Given the description of an element on the screen output the (x, y) to click on. 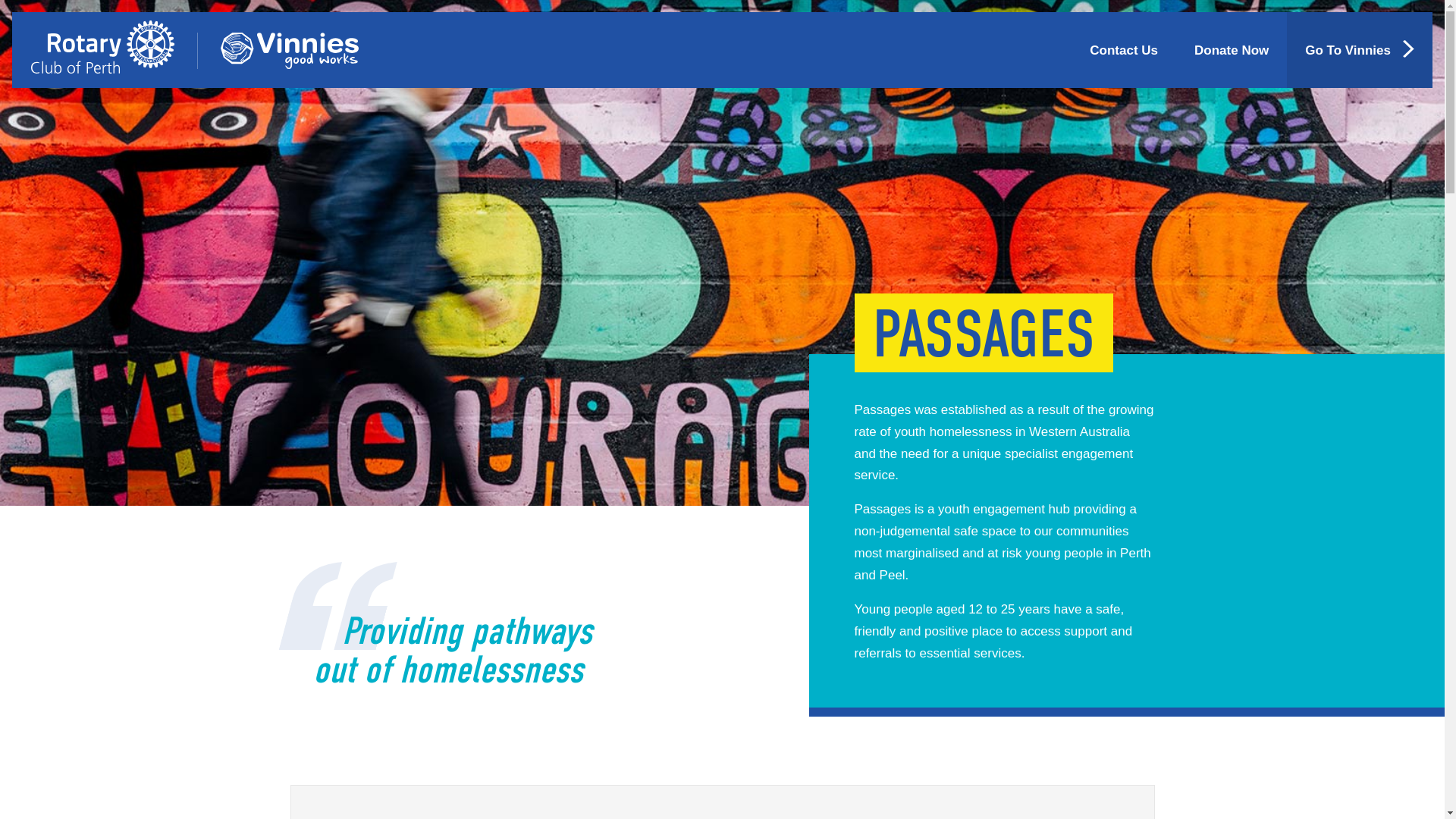
Go To Vinnies Element type: text (1359, 49)
Donate Now Element type: text (1231, 49)
Contact Us Element type: text (1123, 49)
